Given the description of an element on the screen output the (x, y) to click on. 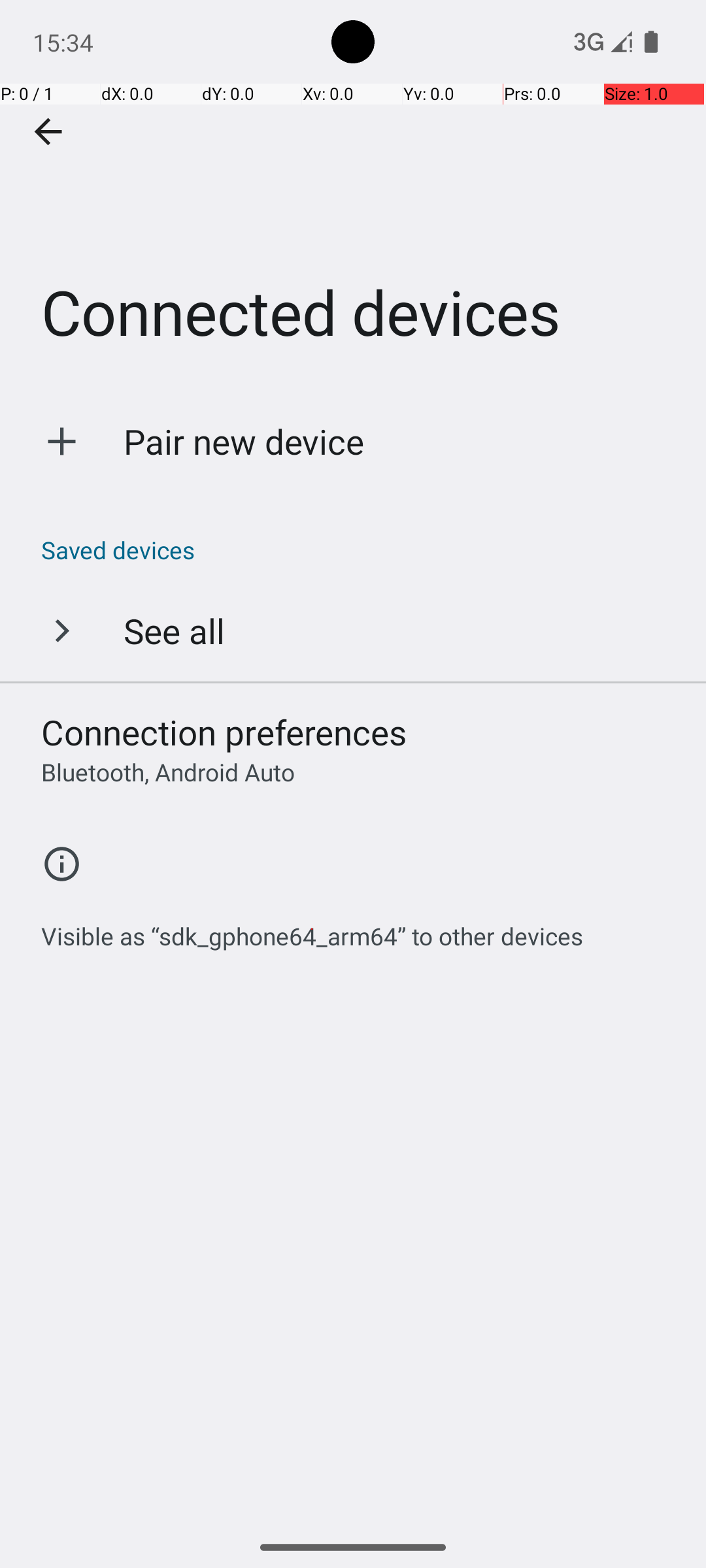
Pair new device Element type: android.widget.TextView (243, 441)
Saved devices Element type: android.widget.TextView (359, 549)
See all Element type: android.widget.TextView (173, 630)
Connection preferences Element type: android.widget.TextView (224, 731)
Bluetooth, Android Auto Element type: android.widget.TextView (167, 771)
Visible as “sdk_gphone64_arm64” to other devices Element type: android.widget.TextView (312, 928)
